Given the description of an element on the screen output the (x, y) to click on. 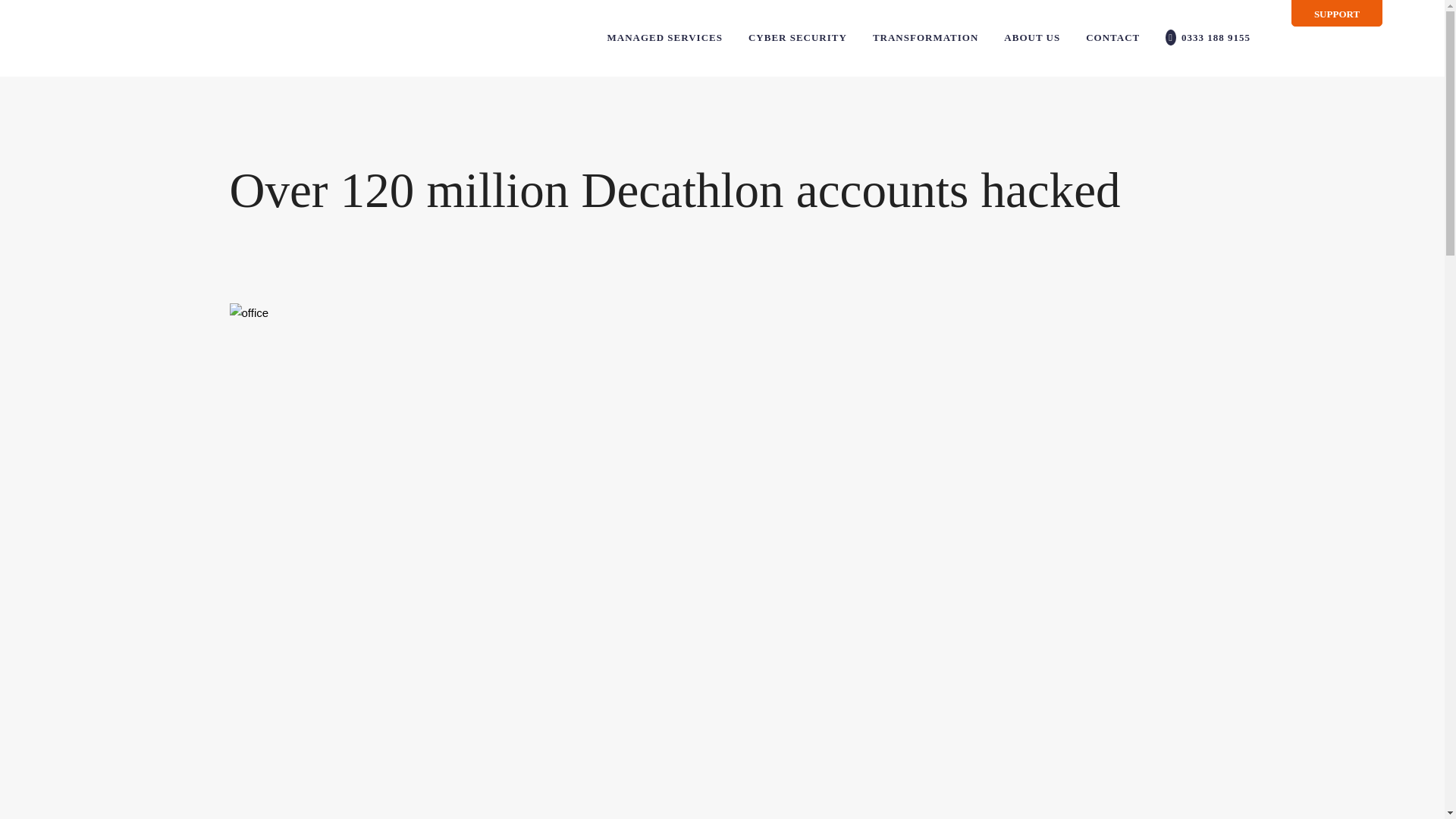
MANAGED SERVICES (664, 38)
ABOUT US (1032, 38)
CONTACT (1113, 38)
TRANSFORMATION (925, 38)
SUPPORT (1336, 13)
CYBER SECURITY (797, 38)
0333 188 9155 (1208, 38)
